Given the description of an element on the screen output the (x, y) to click on. 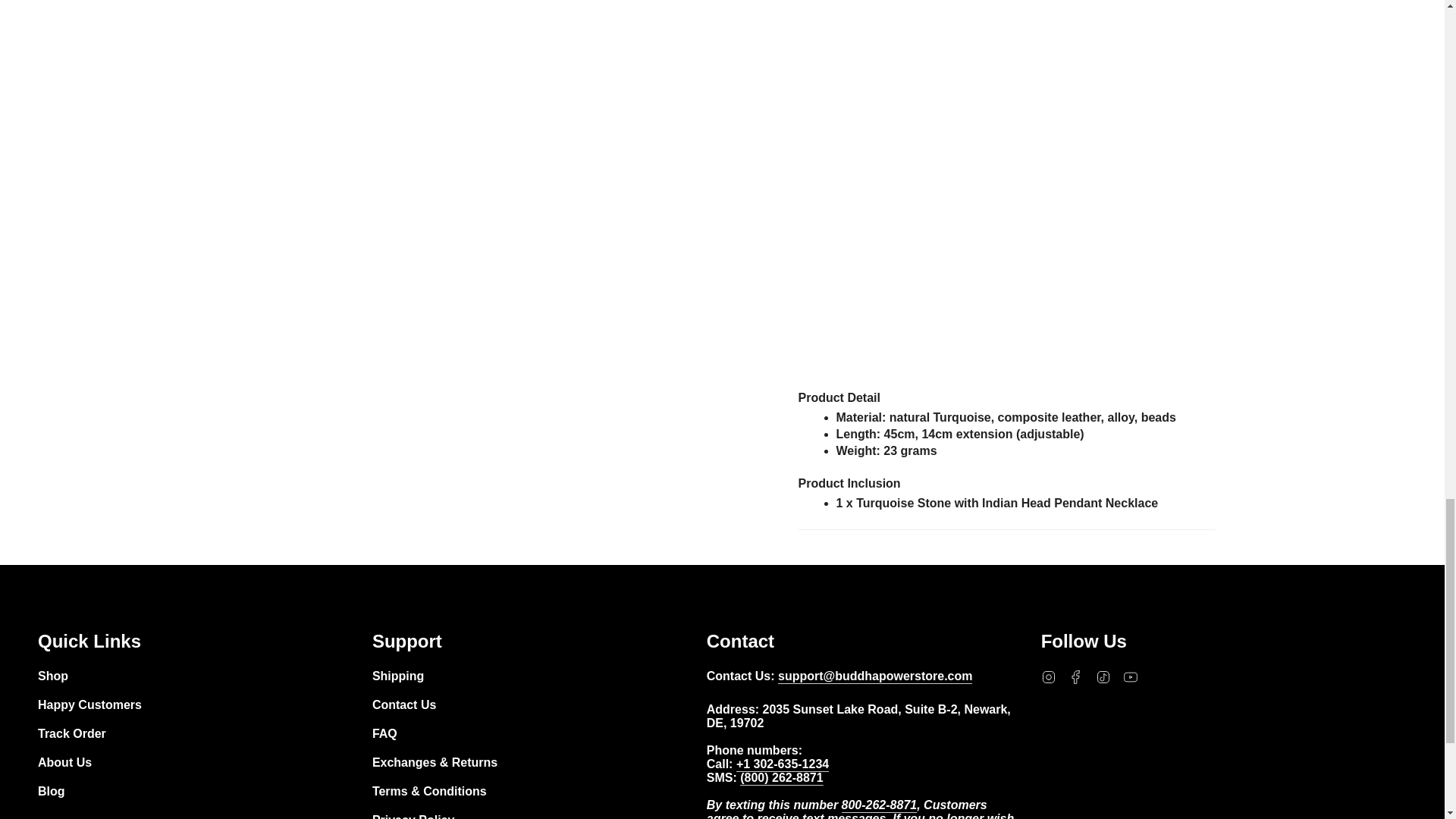
tel:8002628871 (780, 779)
Buddha Power Store on YouTube (1130, 675)
Buddha Power Store on Instagram (1049, 675)
Buddha Power Store on TikTok (1103, 675)
Buddha Power Store on Facebook (1075, 675)
